Given the description of an element on the screen output the (x, y) to click on. 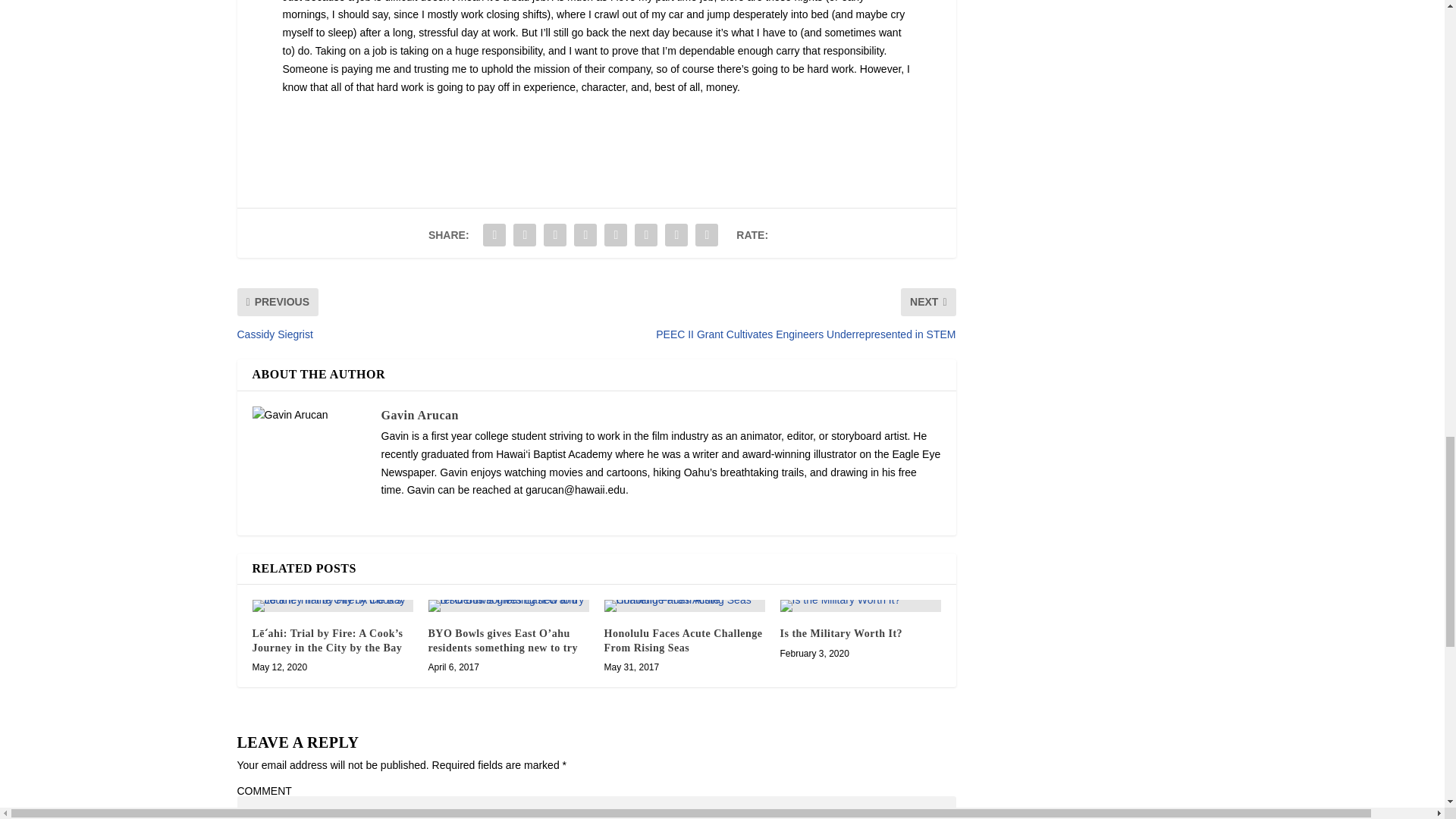
View all posts by Gavin Arucan (419, 414)
